Given the description of an element on the screen output the (x, y) to click on. 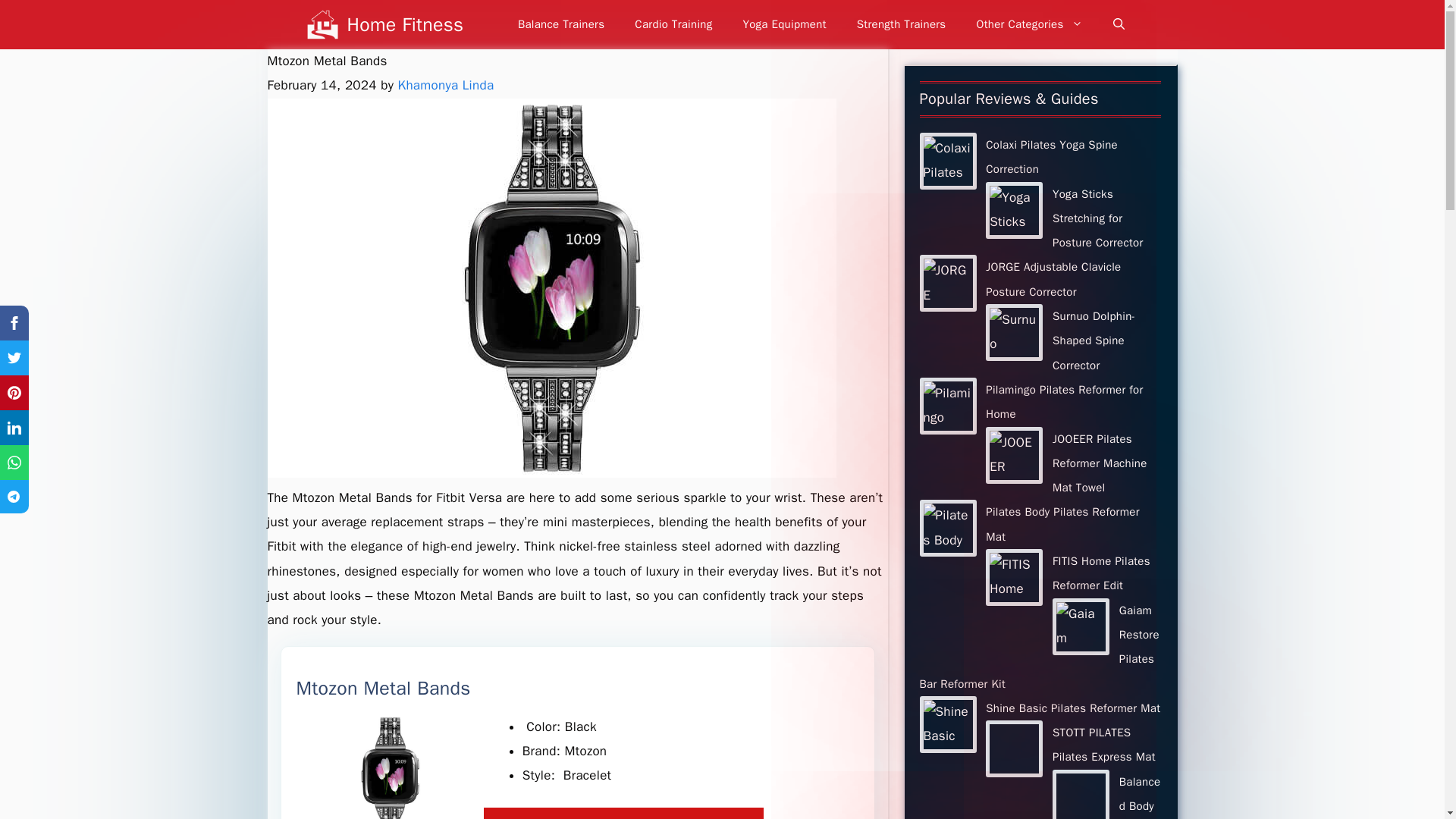
Strength Trainers (900, 24)
Colaxi Pilates Yoga Spine Correction (1051, 156)
Khamonya Linda (446, 84)
Yoga Sticks Stretching for Posture Corrector (1097, 217)
Balance Trainers (561, 24)
SHOP AT AMAZON (622, 813)
Other Categories (1028, 24)
View all posts by Khamonya Linda (446, 84)
JORGE Adjustable Clavicle Posture Corrector (1053, 278)
Home Fitness (405, 24)
JOOEER Pilates Reformer Machine Mat Towel (1099, 463)
Cardio Training (673, 24)
Pilates Body Pilates Reformer Mat (1062, 523)
Pilamingo Pilates Reformer for Home  (1063, 401)
Yoga Equipment (783, 24)
